Given the description of an element on the screen output the (x, y) to click on. 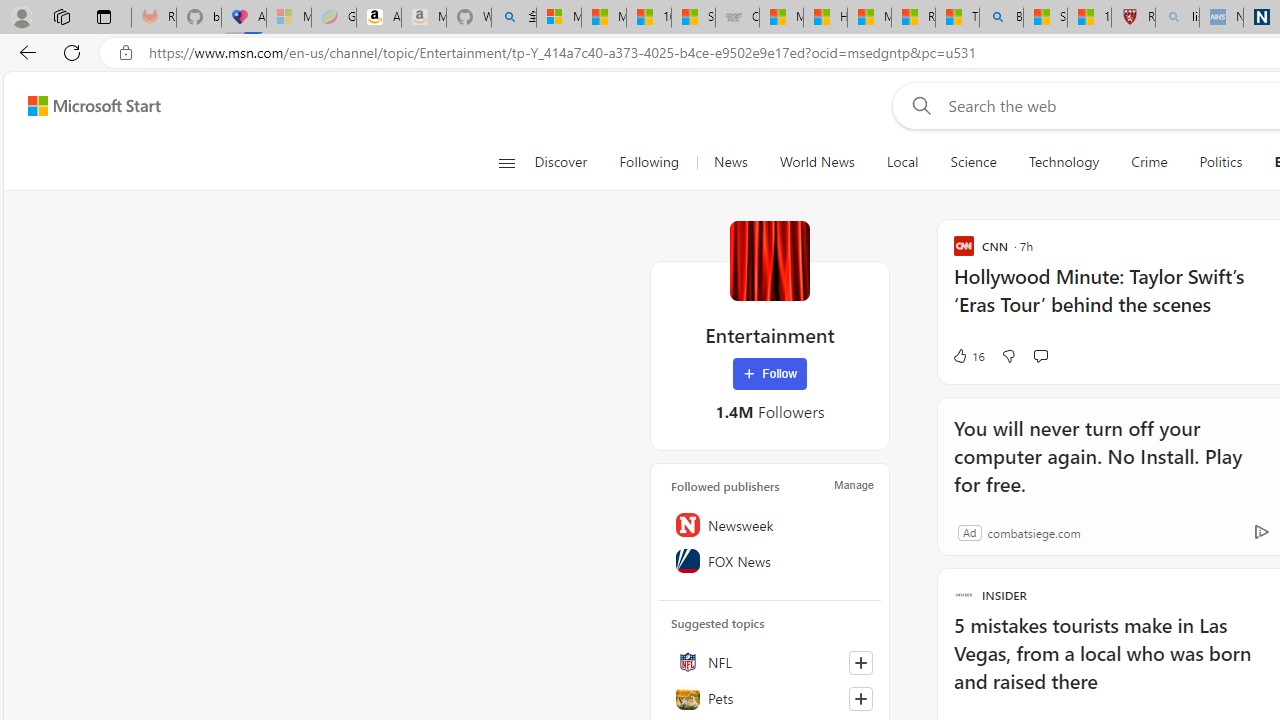
Stocks - MSN (693, 17)
Science - MSN (1045, 17)
Crime (1149, 162)
Follow this topic (860, 698)
Follow (769, 373)
Microsoft-Report a Concern to Bing - Sleeping (289, 17)
Local (902, 162)
Politics (1220, 162)
